Given the description of an element on the screen output the (x, y) to click on. 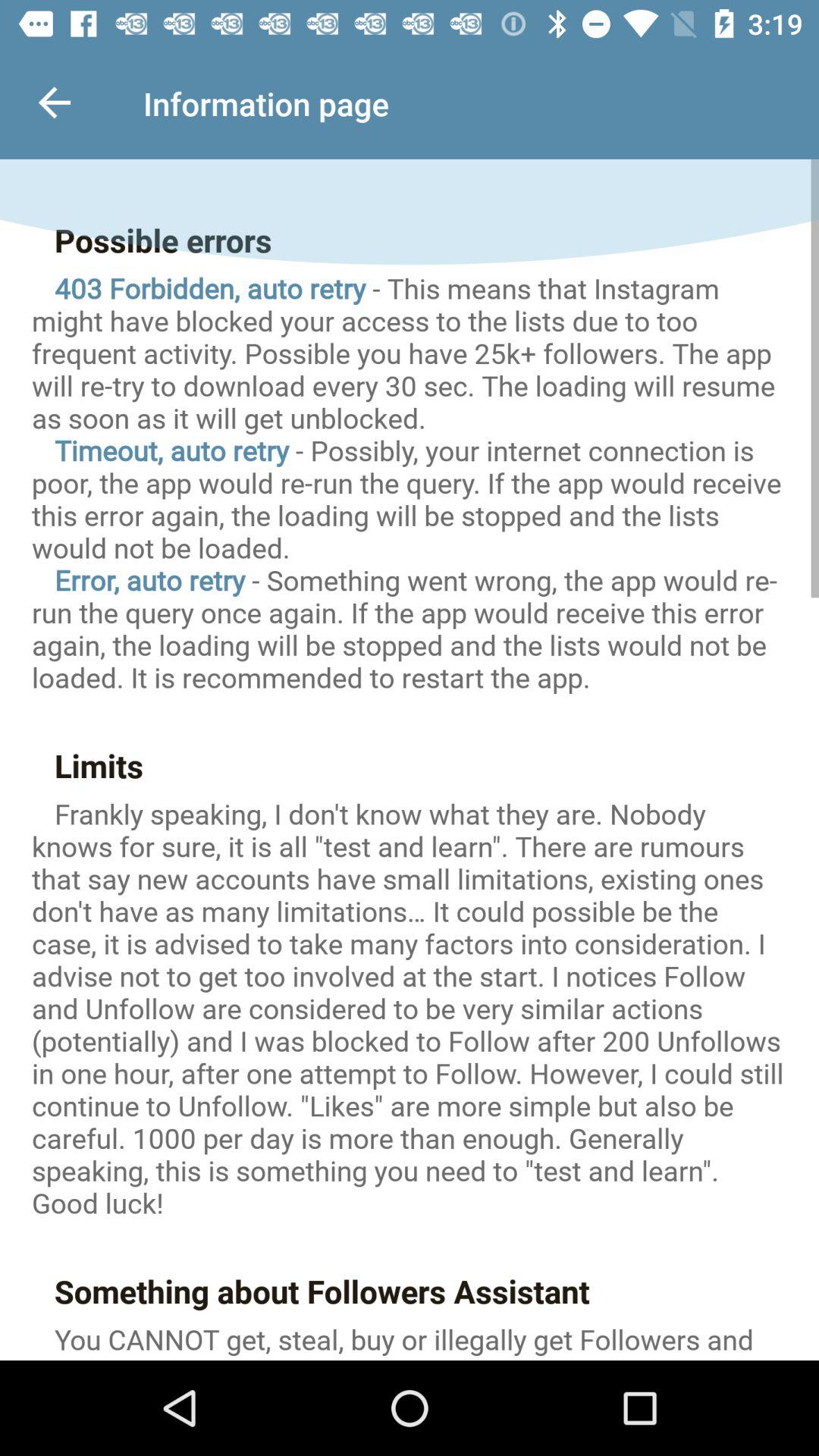
click on the back arrow on the top (51, 95)
